Given the description of an element on the screen output the (x, y) to click on. 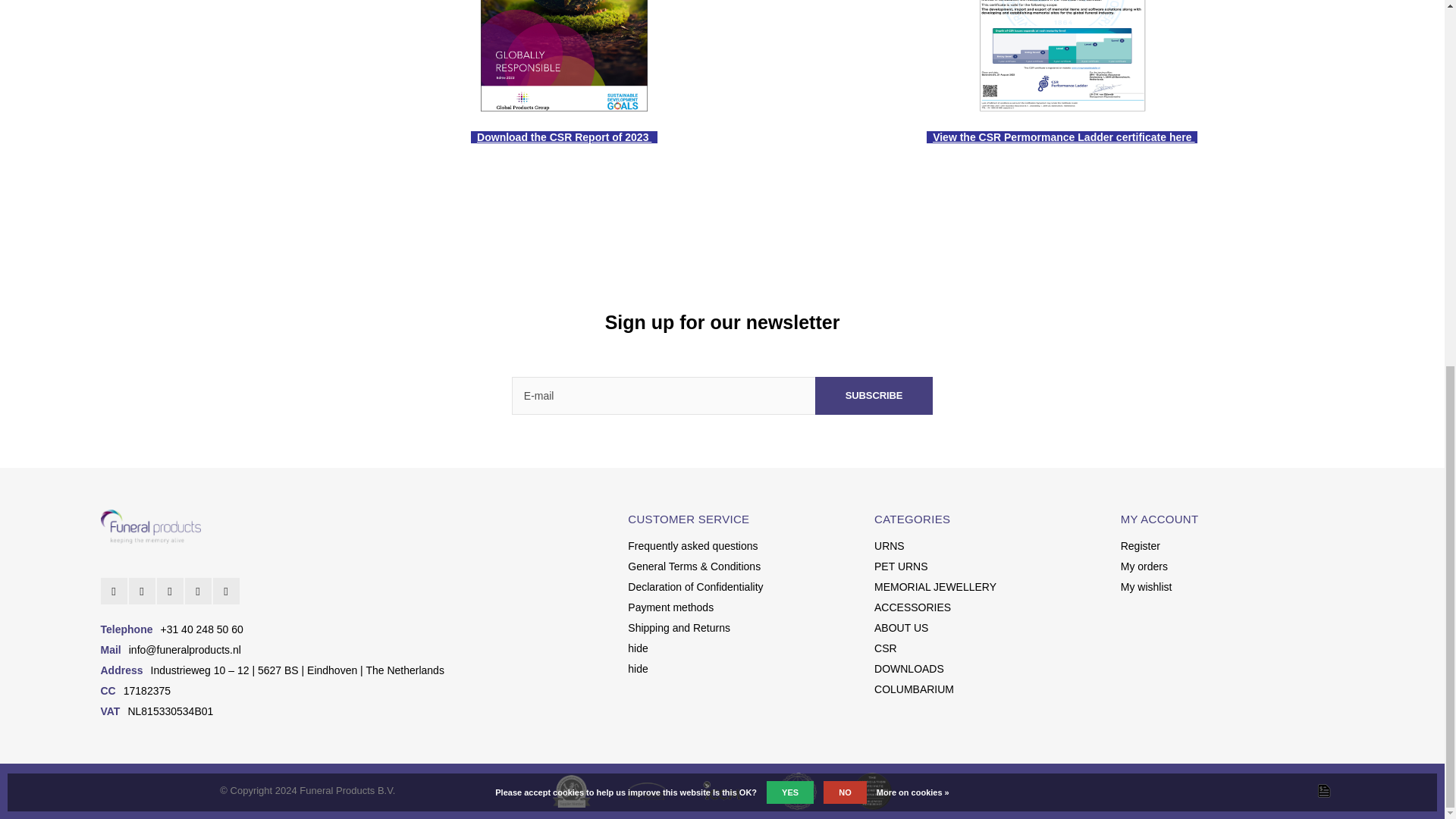
Subscribe (874, 395)
CSR Certificate (1063, 137)
My wishlist (1146, 586)
Register (1140, 545)
My orders (1144, 566)
CSR Annual Report 2023 (563, 137)
Instagram Funeral Products B.V. (142, 591)
